Given the description of an element on the screen output the (x, y) to click on. 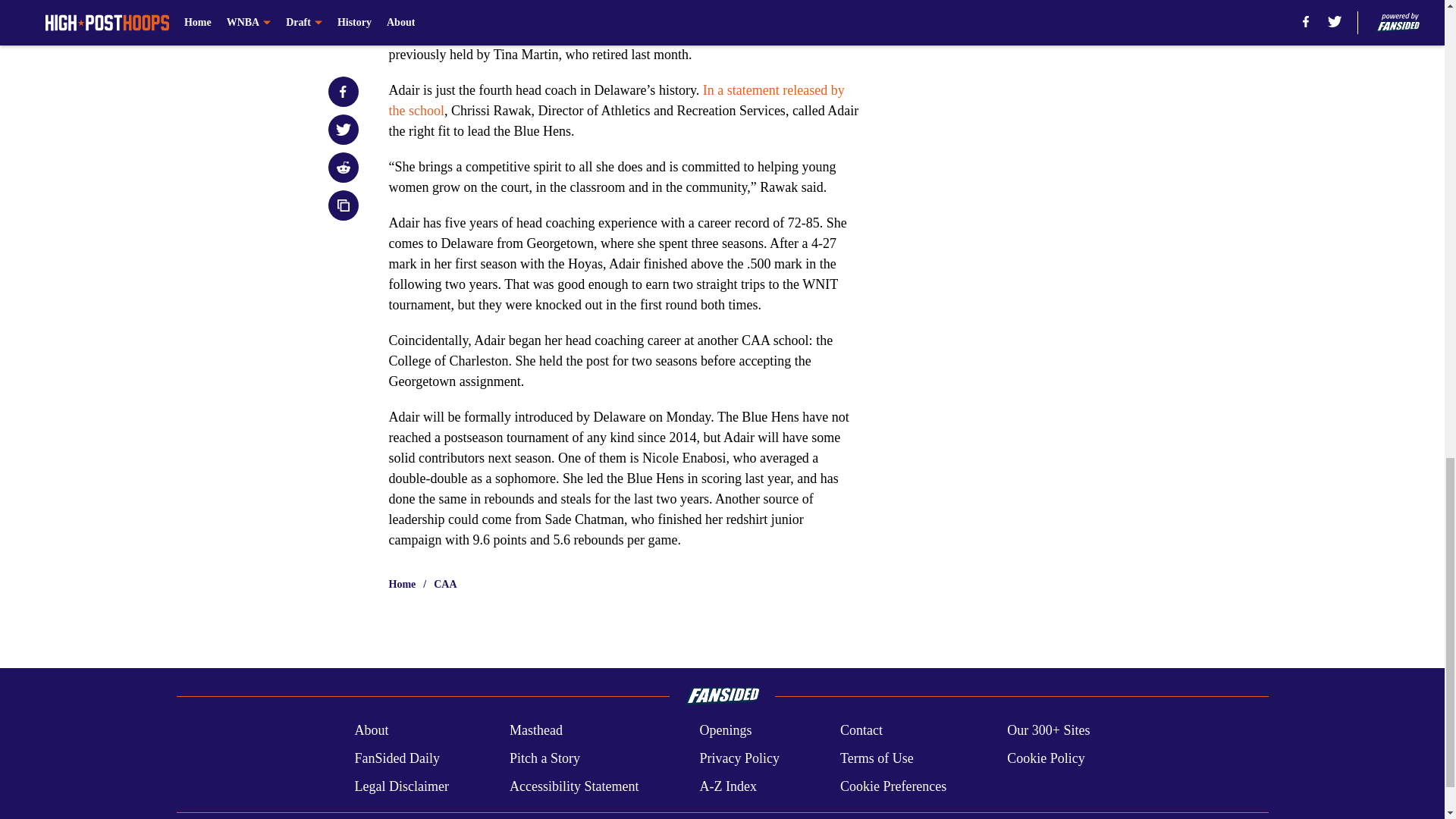
In a statement released by the school (616, 99)
Pitch a Story (544, 758)
About (370, 730)
Openings (724, 730)
Contact (861, 730)
Home (401, 584)
FanSided Daily (396, 758)
Privacy Policy (738, 758)
Masthead (535, 730)
CAA (445, 584)
